Given the description of an element on the screen output the (x, y) to click on. 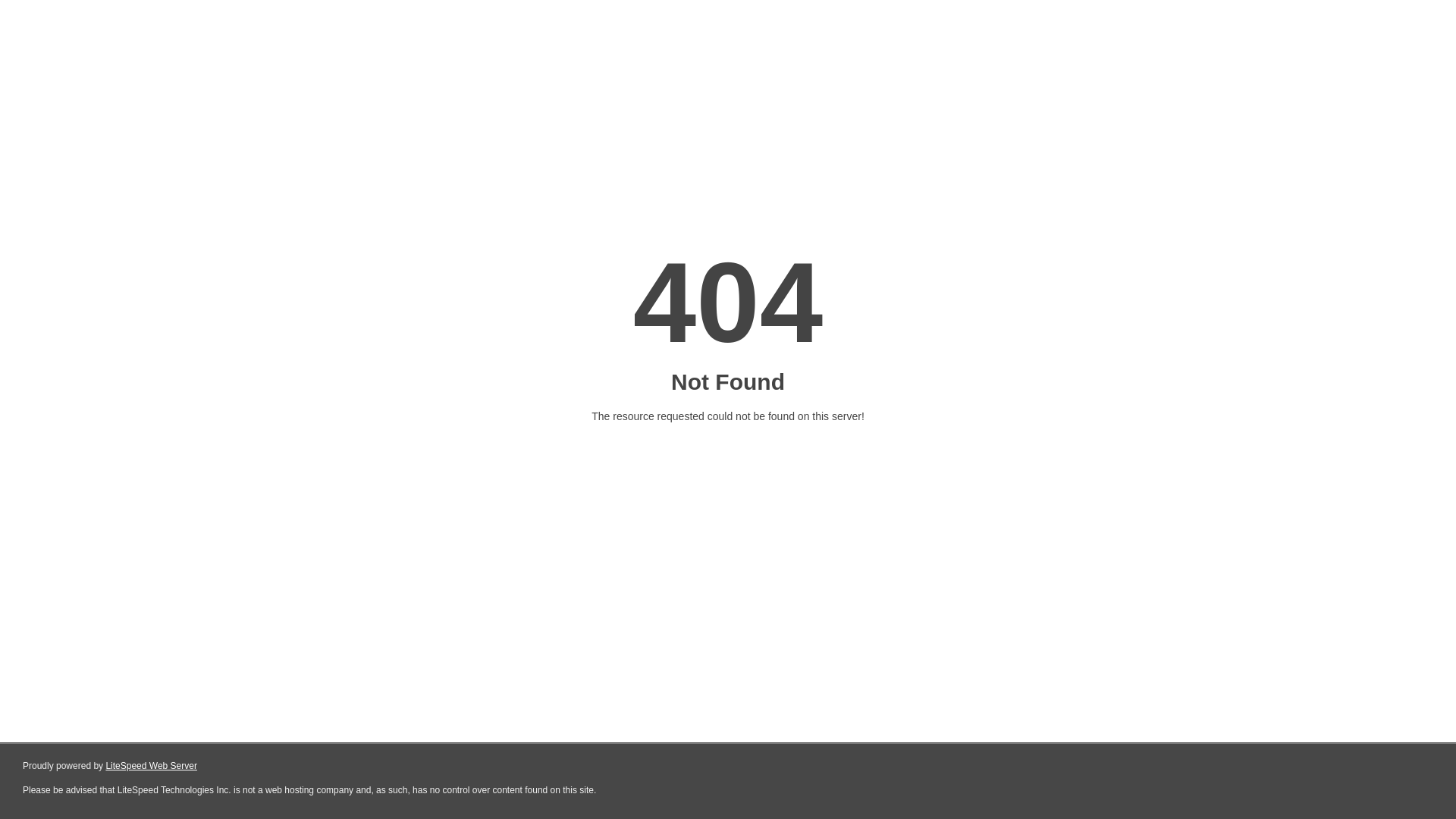
LiteSpeed Web Server Element type: text (151, 765)
